Given the description of an element on the screen output the (x, y) to click on. 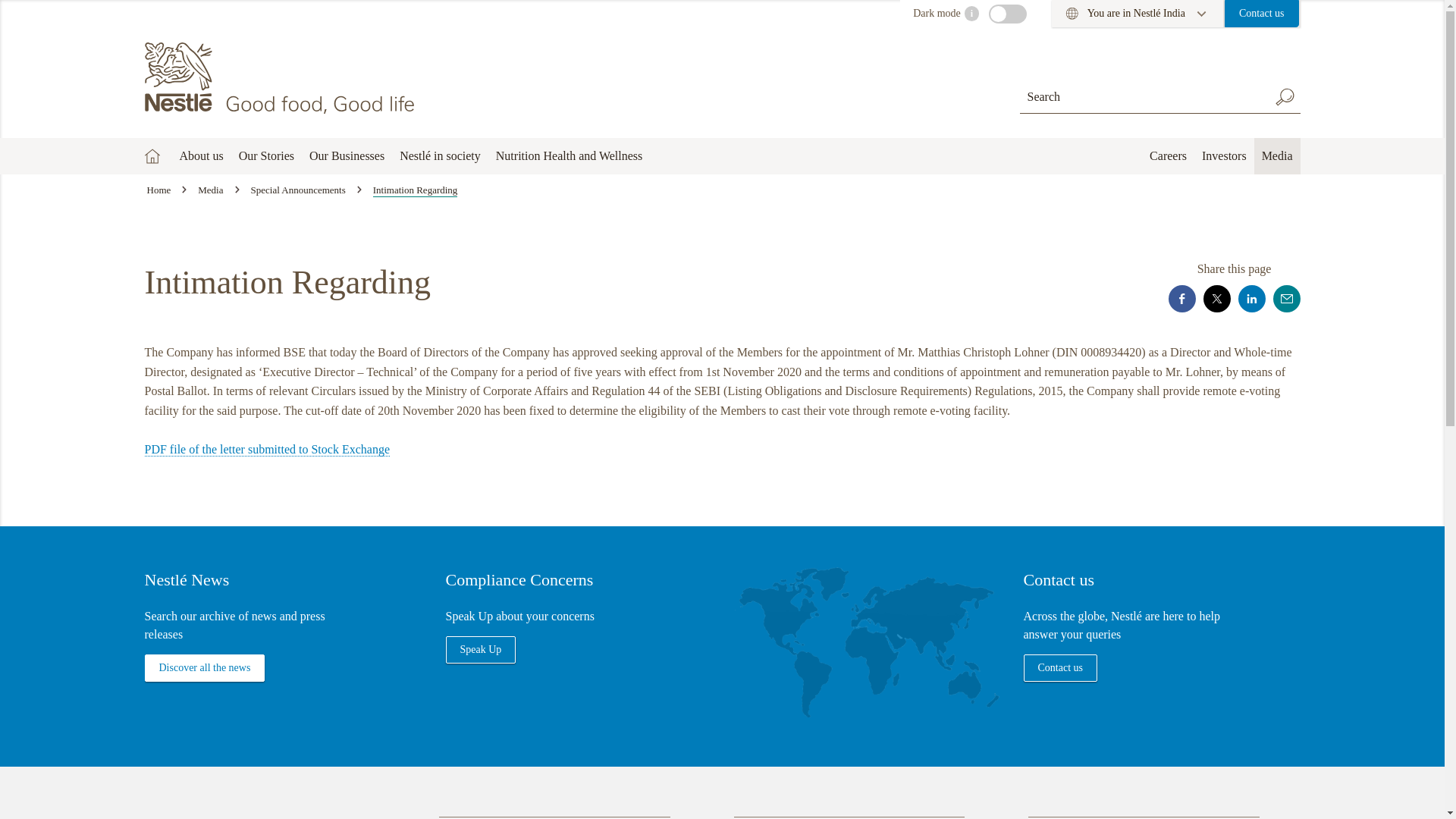
Home (281, 77)
Contact Us Page (1261, 13)
